Given the description of an element on the screen output the (x, y) to click on. 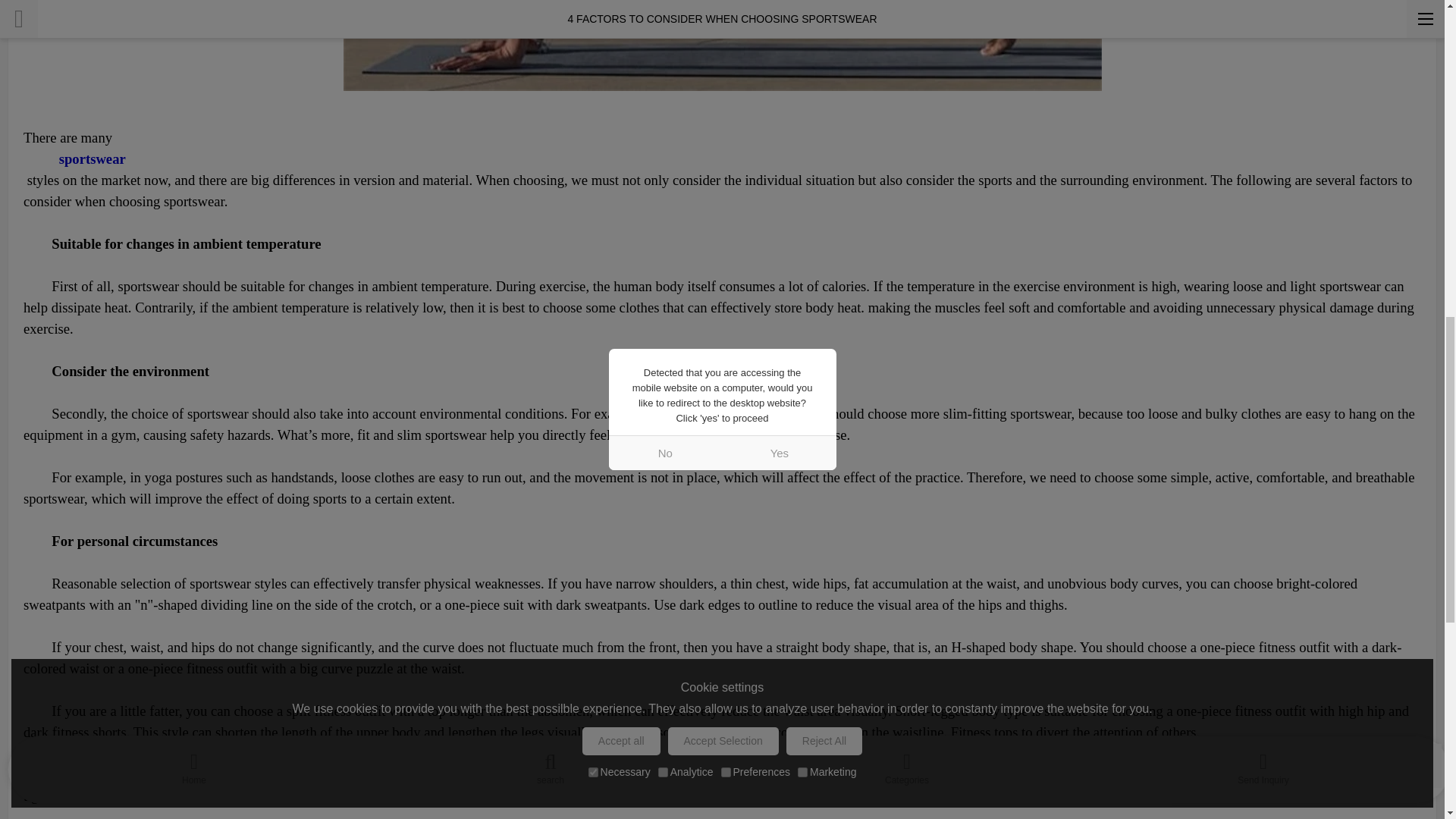
sportswear (722, 158)
